Given the description of an element on the screen output the (x, y) to click on. 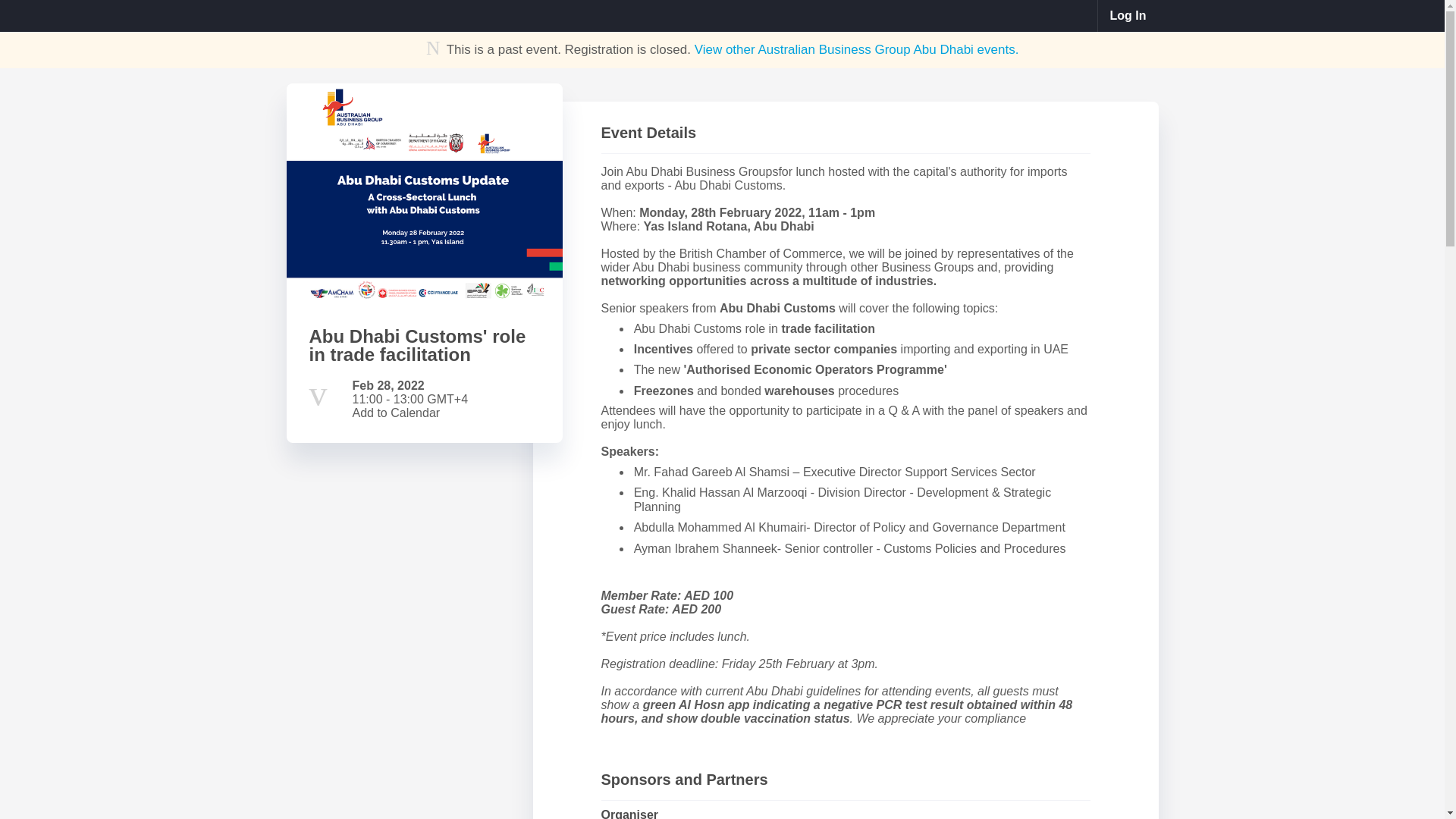
Log In (1127, 15)
Sign in (1127, 15)
Add to Calendar (395, 412)
View other Australian Business Group Abu Dhabi events. (856, 49)
